Given the description of an element on the screen output the (x, y) to click on. 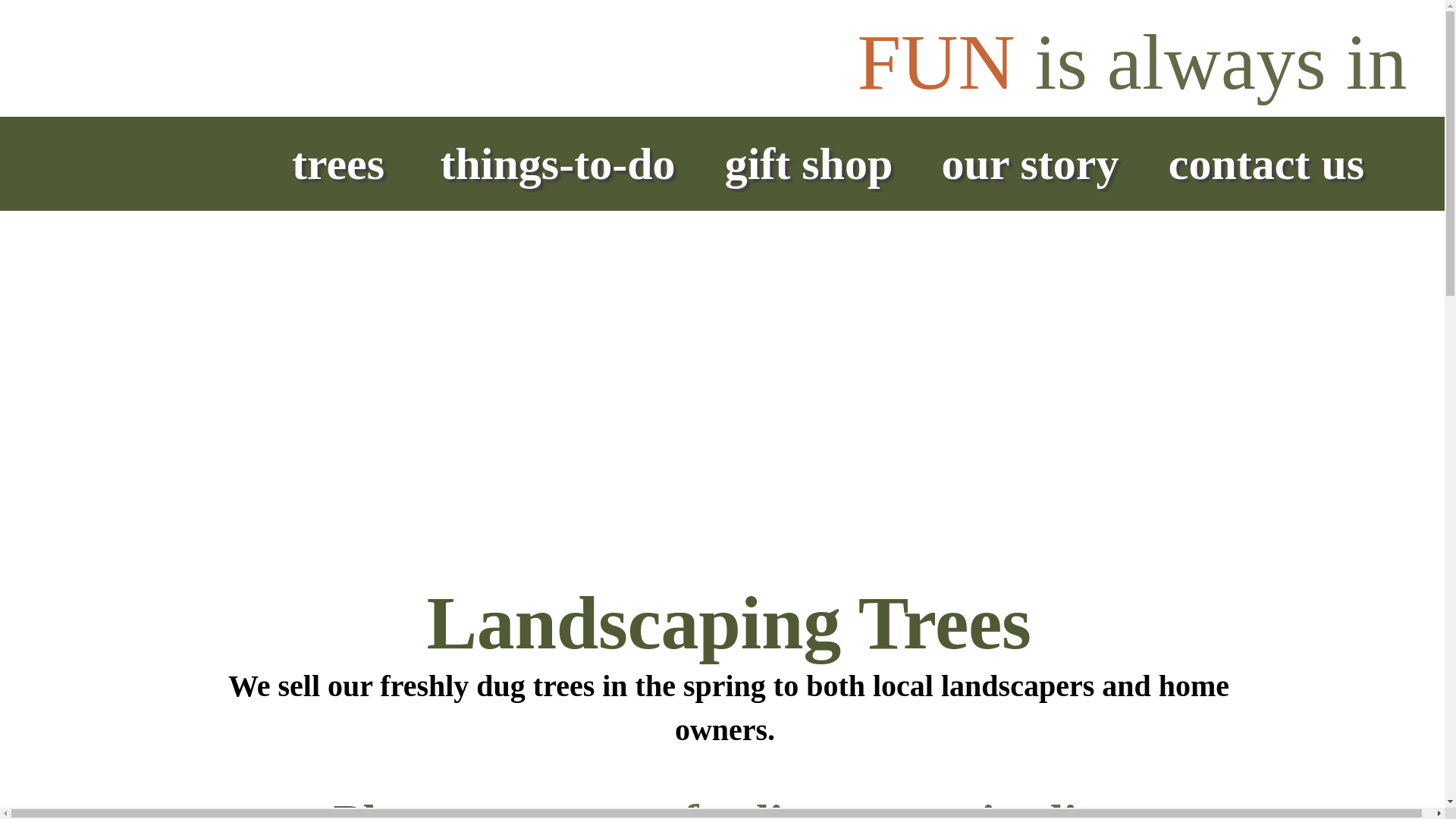
contact us (571, 808)
